Given the description of an element on the screen output the (x, y) to click on. 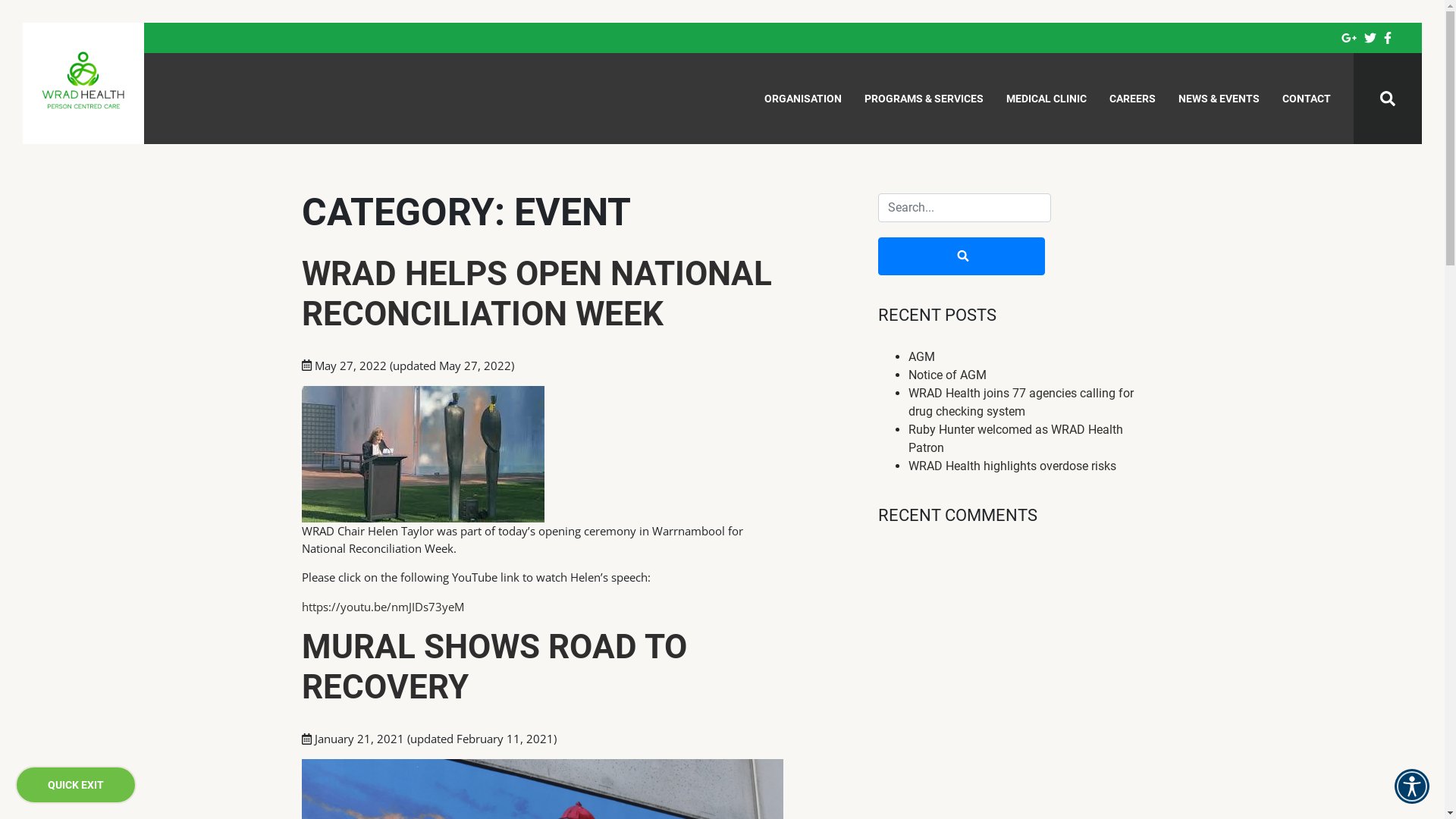
NEWS & EVENTS Element type: text (1218, 98)
CAREERS Element type: text (1132, 98)
QUICK EXIT Element type: text (75, 783)
MURAL SHOWS ROAD TO RECOVERY Element type: text (494, 666)
MEDICAL CLINIC Element type: text (1046, 98)
https://youtu.be/nmJIDs73yeM Element type: text (382, 606)
QUICK EXIT Element type: text (75, 784)
CONTACT Element type: text (1306, 98)
Notice of AGM Element type: text (947, 374)
Search Element type: text (961, 256)
ORGANISATION Element type: text (803, 98)
Ruby Hunter welcomed as WRAD Health Patron Element type: text (1015, 438)
PROGRAMS & SERVICES Element type: text (923, 98)
WRAD Health highlights overdose risks Element type: text (1012, 465)
AGM Element type: text (921, 356)
WRAD HELPS OPEN NATIONAL RECONCILIATION WEEK Element type: text (536, 293)
